Given the description of an element on the screen output the (x, y) to click on. 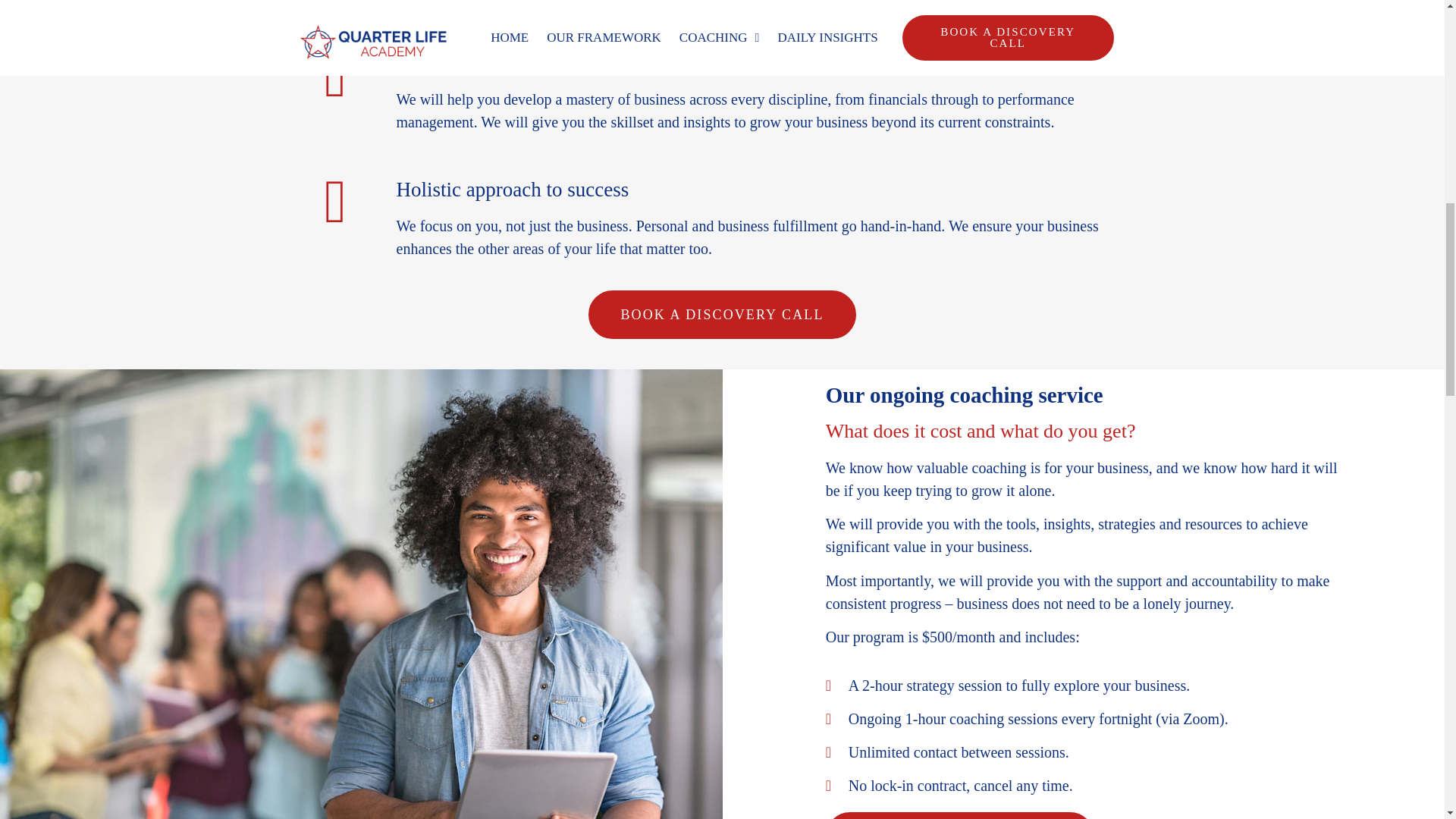
BOOK A DISCOVERY CALL (722, 314)
BOOK A DISCOVERY CALL (959, 815)
